Given the description of an element on the screen output the (x, y) to click on. 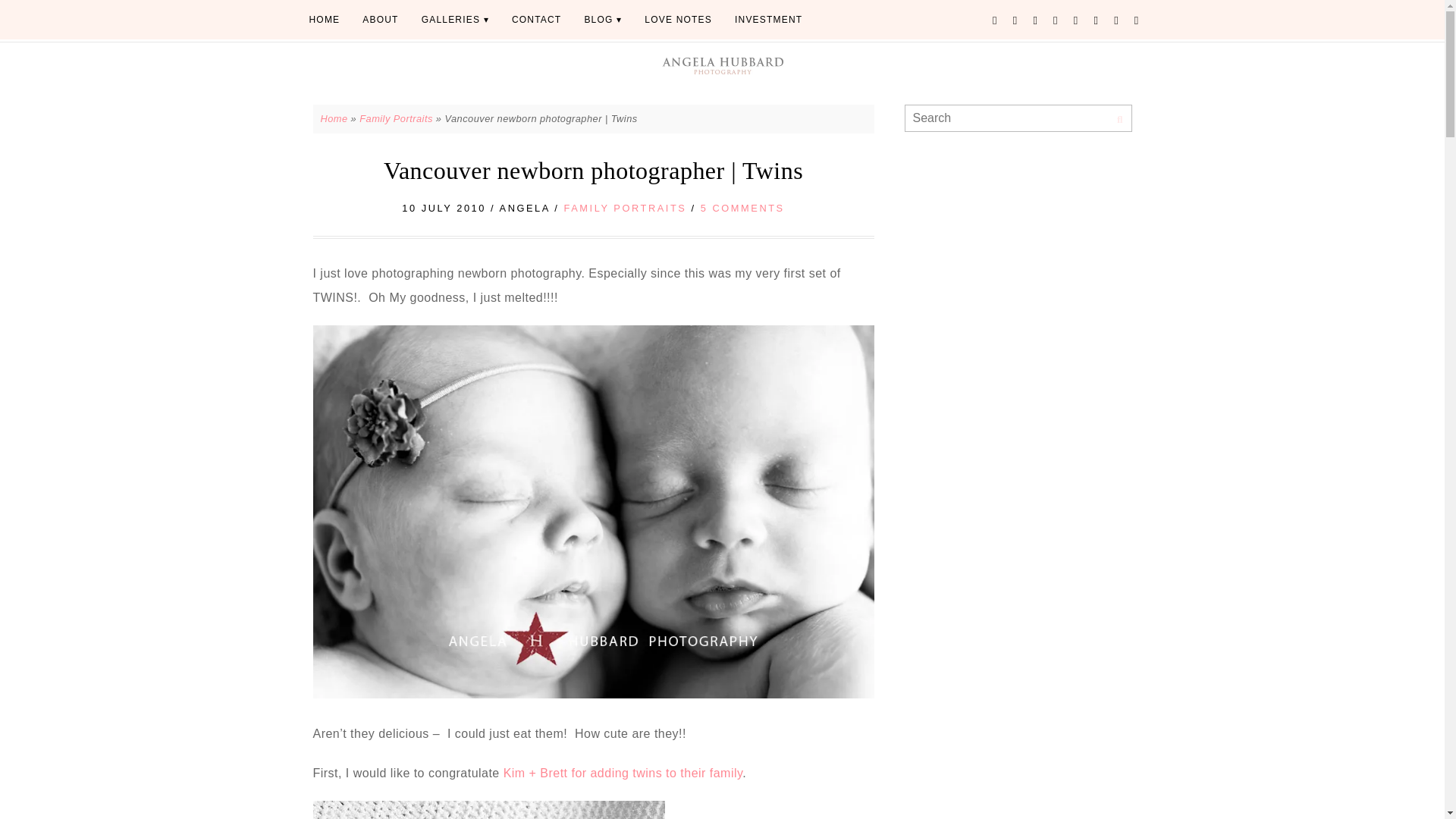
INVESTMENT (768, 19)
LOVE NOTES (678, 19)
Home (333, 117)
GALLERIES (455, 19)
ABOUT (379, 19)
Family Portraits (395, 117)
CONTACT (536, 19)
Vancouver newborn photographer Angela Hubbard Photography (488, 809)
BLOG (602, 19)
WEDDINGS (455, 19)
HOME (323, 19)
